Given the description of an element on the screen output the (x, y) to click on. 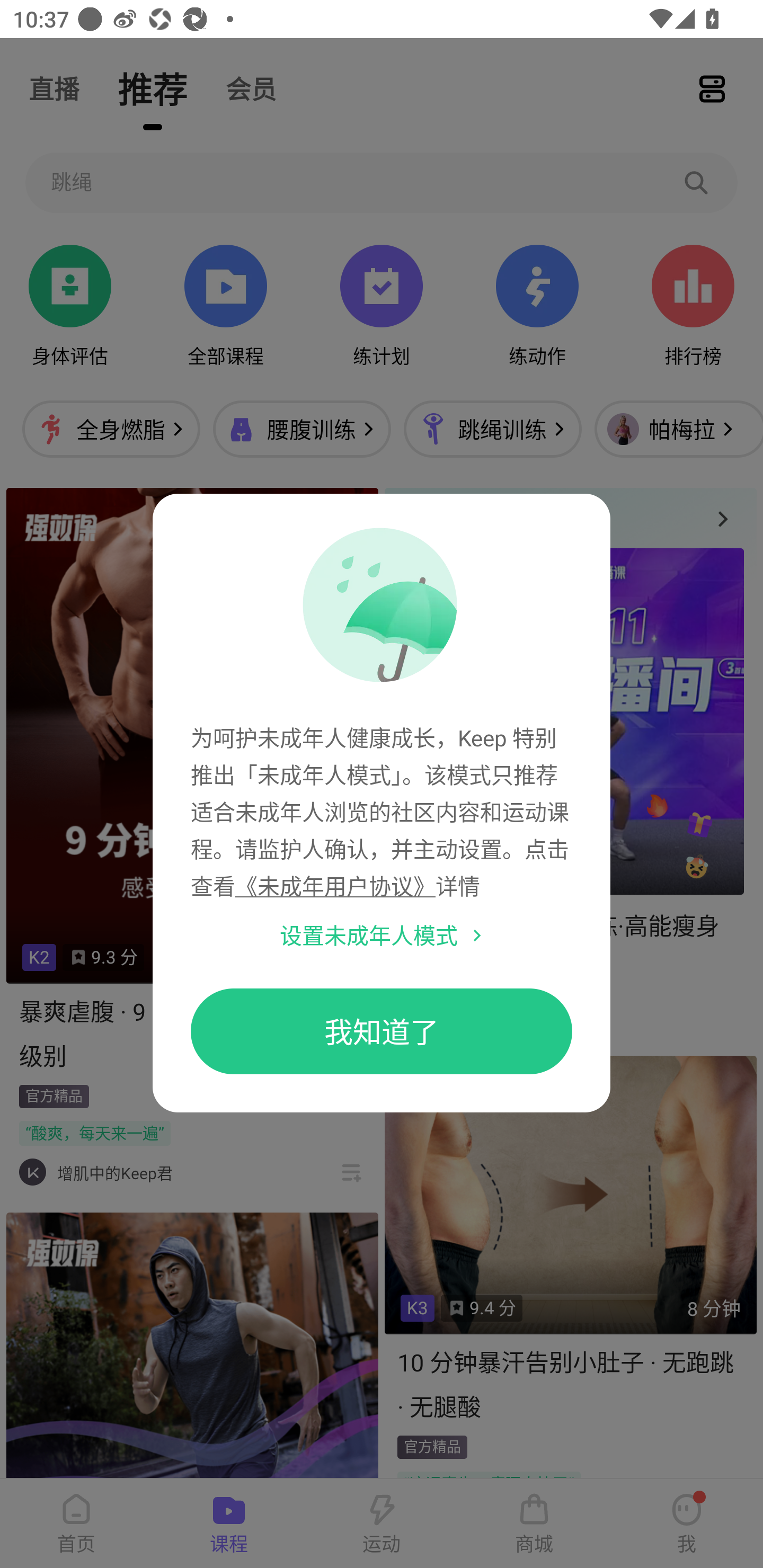
设置未成年人模式 (368, 935)
我知道了 (381, 1030)
